Given the description of an element on the screen output the (x, y) to click on. 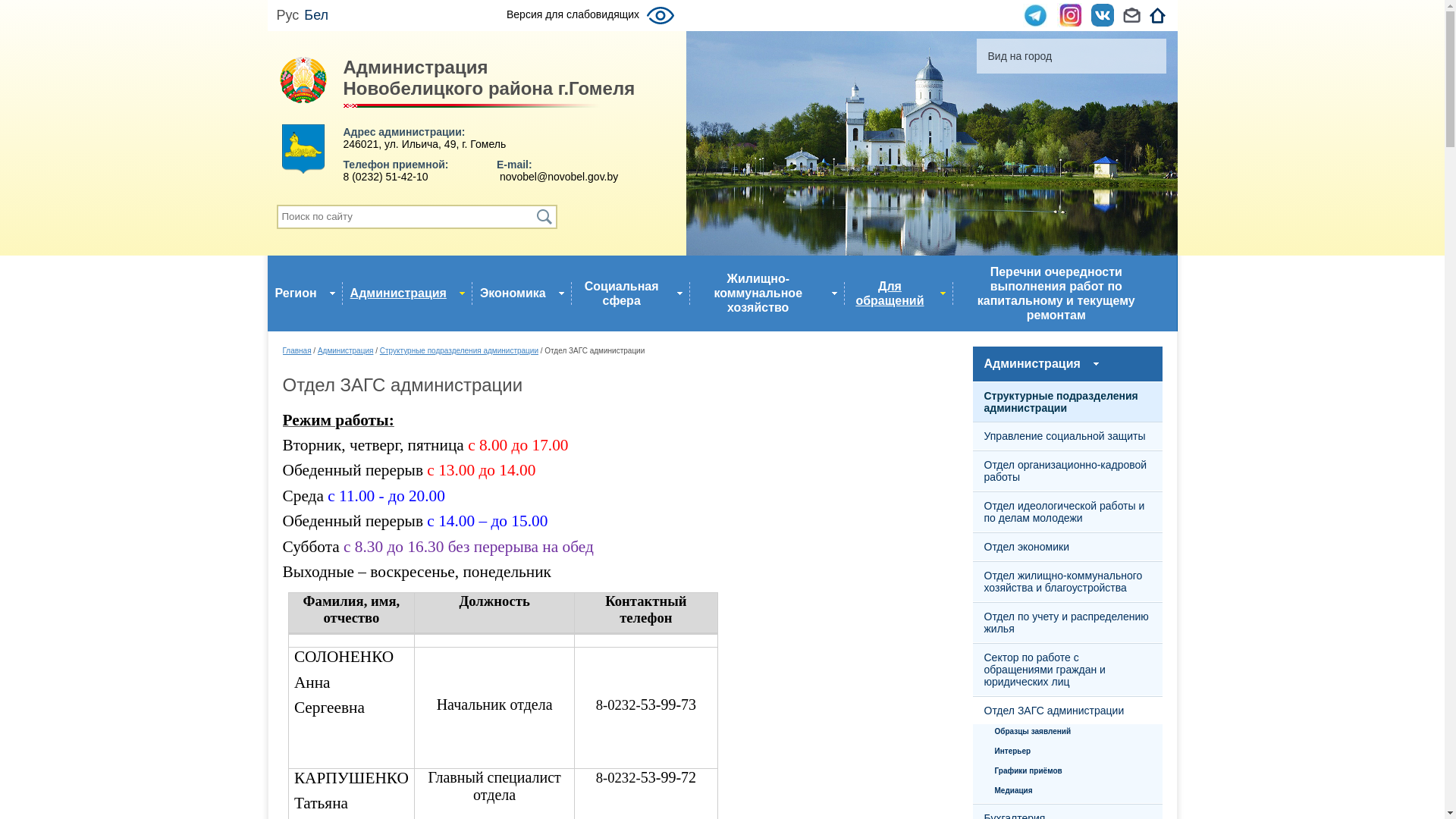
Instagram Element type: hover (1069, 15)
